Given the description of an element on the screen output the (x, y) to click on. 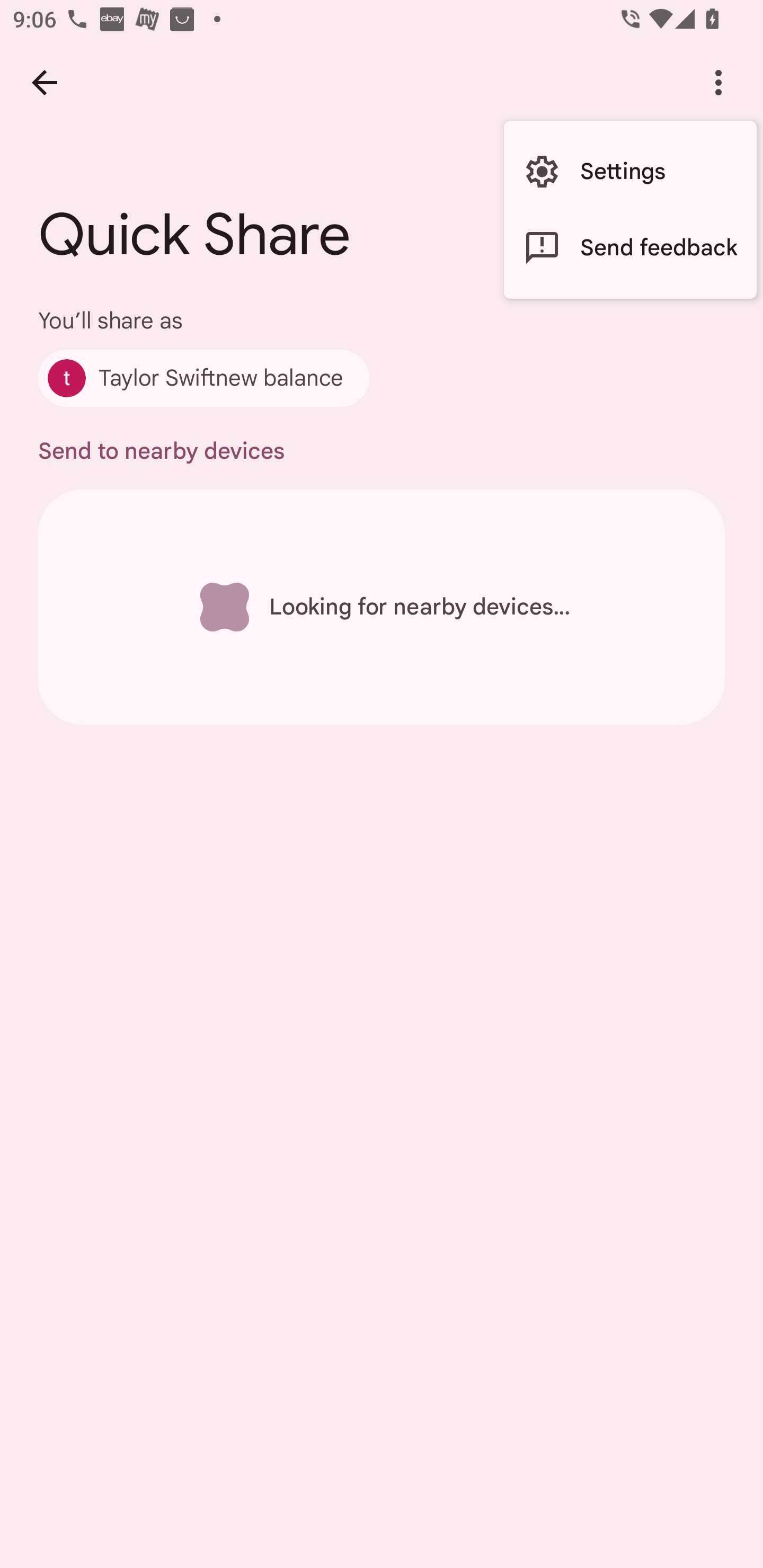
Settings (629, 171)
Send feedback (629, 247)
